Given the description of an element on the screen output the (x, y) to click on. 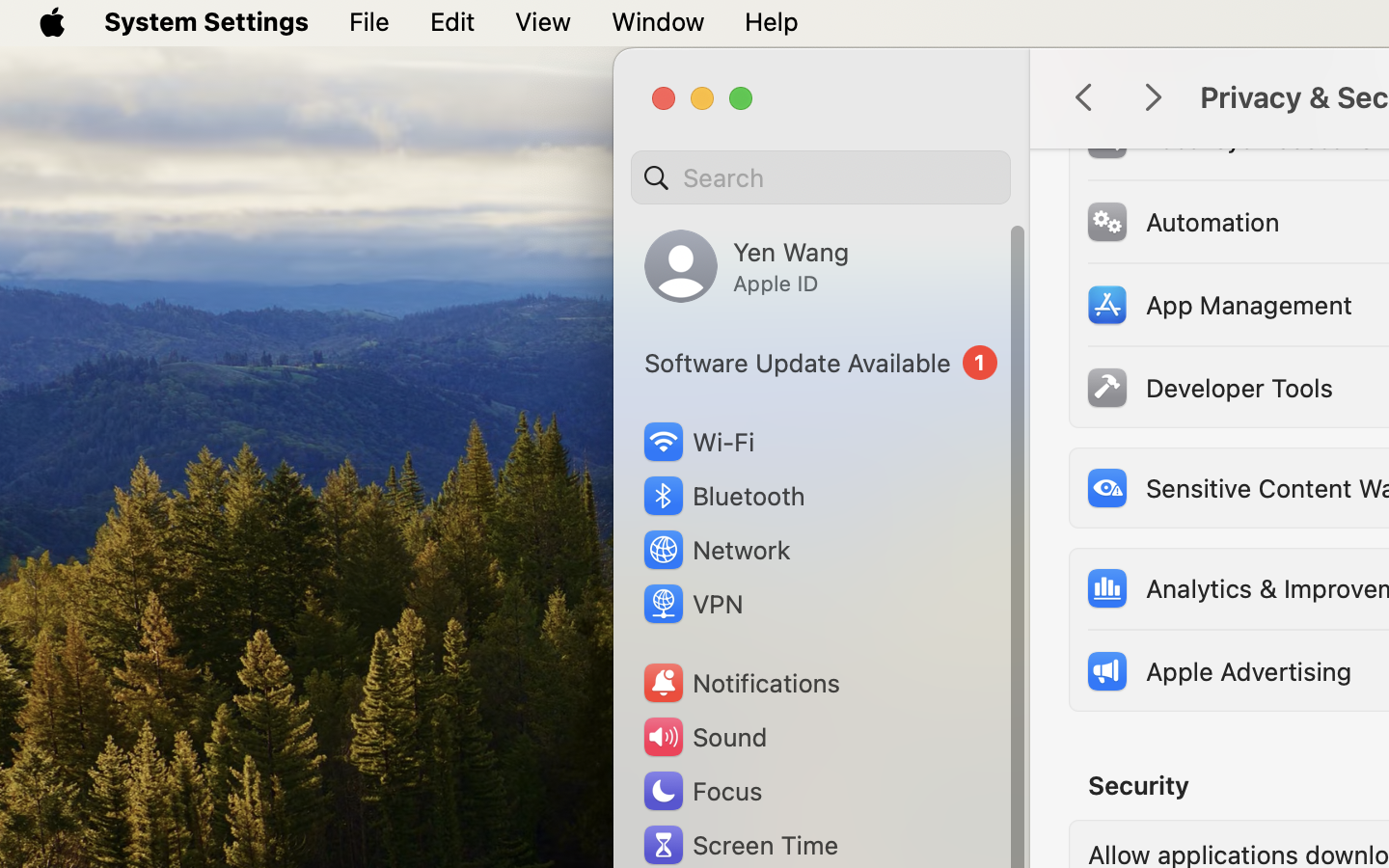
Sound Element type: AXStaticText (703, 736)
Yen Wang, Apple ID Element type: AXStaticText (746, 265)
Screen Time Element type: AXStaticText (739, 844)
Notifications Element type: AXStaticText (740, 682)
